Given the description of an element on the screen output the (x, y) to click on. 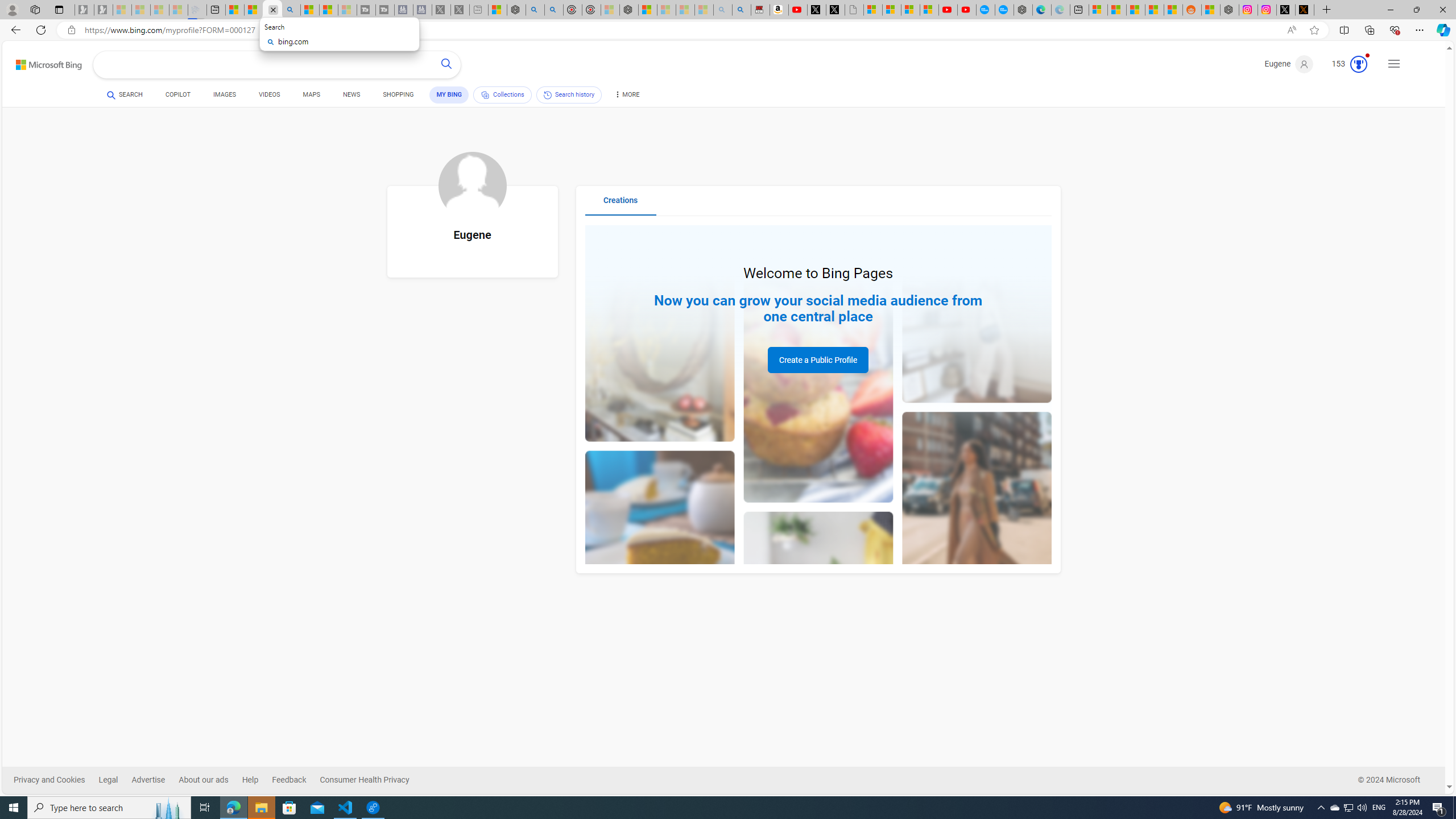
poe ++ standard - Search (553, 9)
Privacy and Cookies (56, 780)
Newsletter Sign Up - Sleeping (102, 9)
CollectionsSearch history (537, 96)
YouTube Kids - An App Created for Kids to Explore Content (966, 9)
Settings and quick links (1394, 63)
To get missing image descriptions, open the context menu. (472, 185)
